Given the description of an element on the screen output the (x, y) to click on. 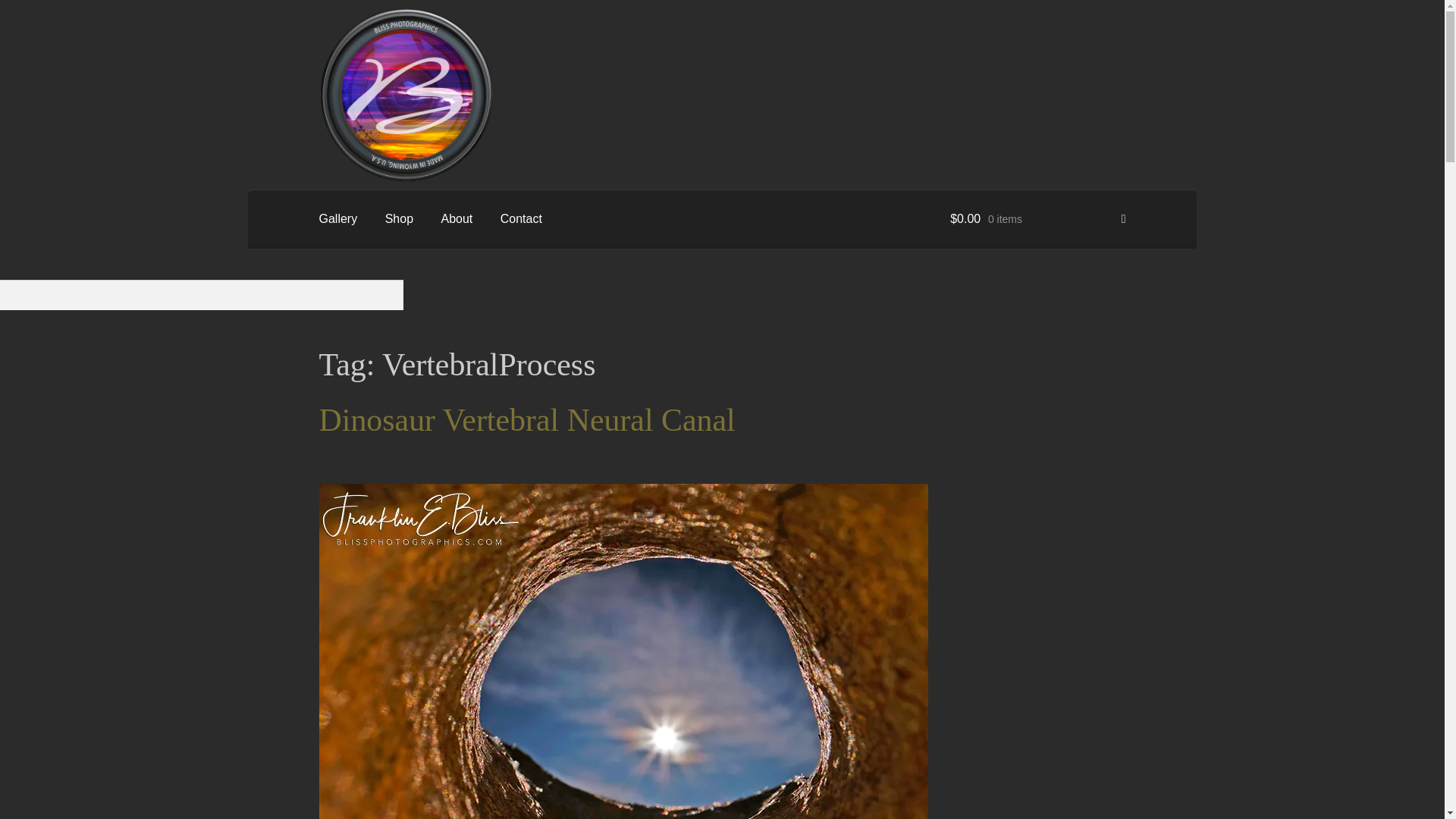
About (456, 218)
Contact (520, 218)
View your shopping cart (1037, 218)
Dinosaur Vertebral Neural Canal (526, 419)
Gallery (338, 218)
